Given the description of an element on the screen output the (x, y) to click on. 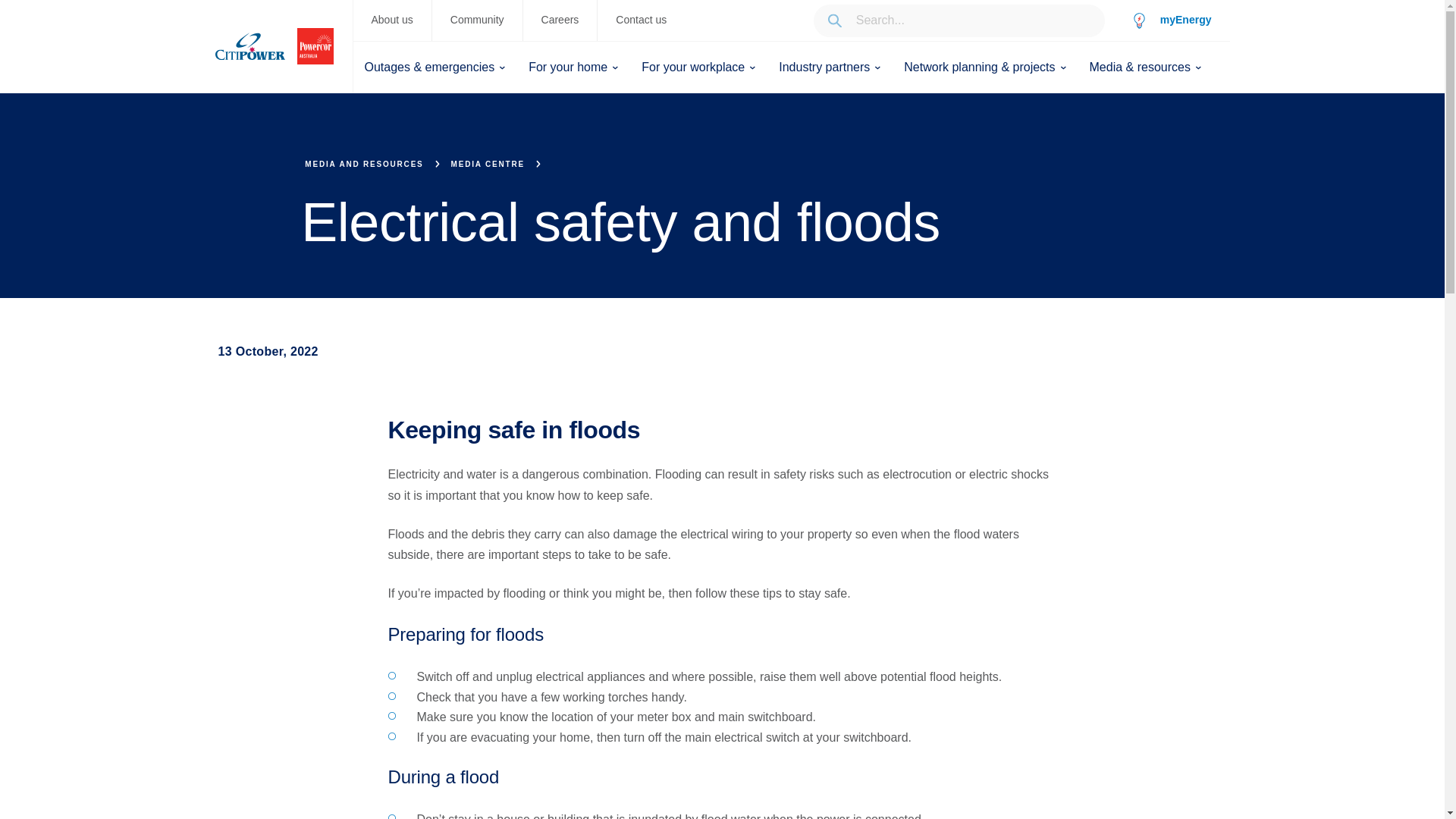
Careers (559, 20)
Search (959, 20)
myEnergy (1170, 20)
Community (477, 20)
About us (391, 20)
Contact us (640, 20)
